Given the description of an element on the screen output the (x, y) to click on. 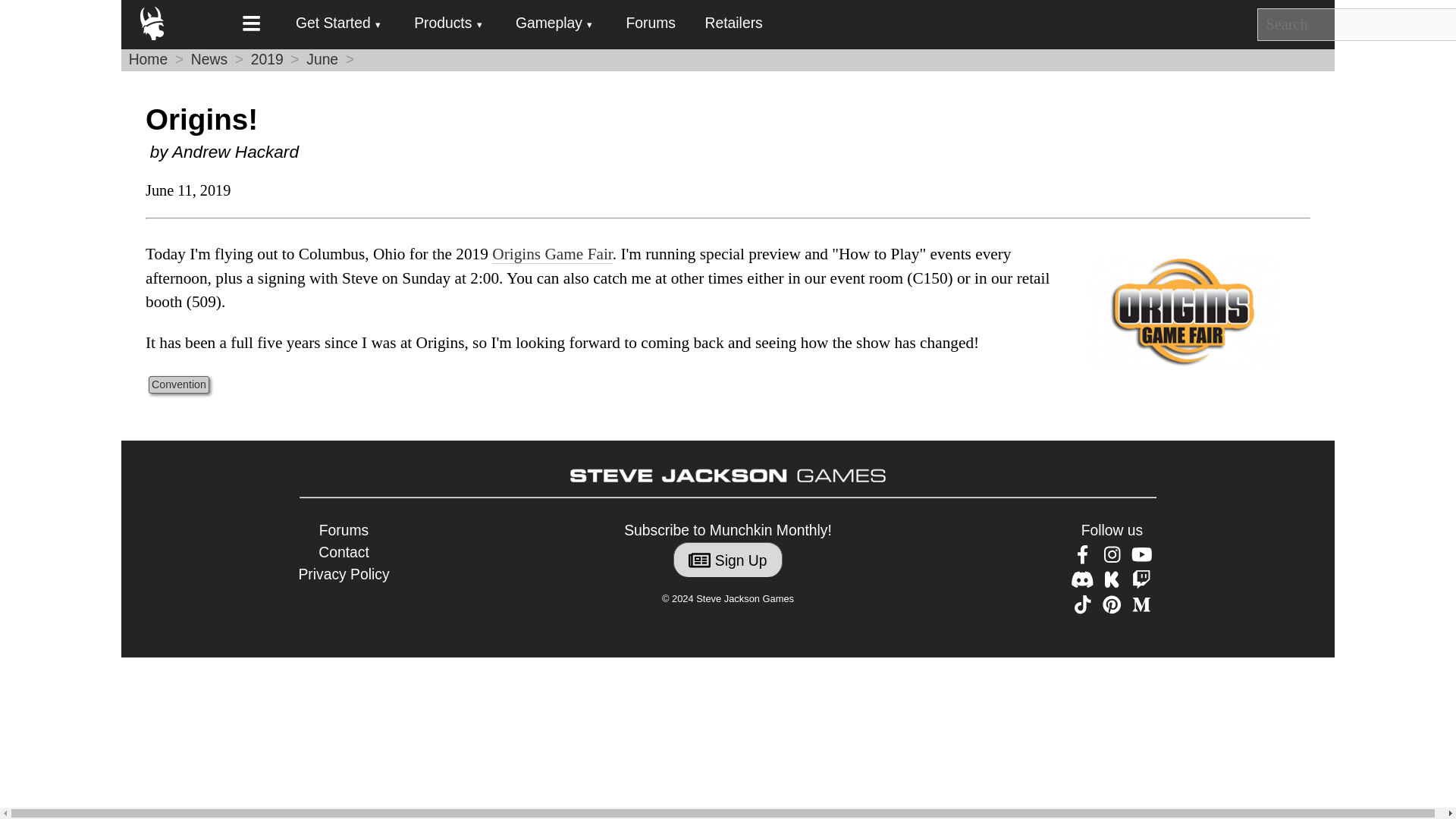
Retailers (733, 22)
News (208, 59)
Origins Game Fair (552, 253)
Products (447, 23)
Get Started (338, 23)
Gameplay (553, 23)
2019 (266, 59)
June (321, 59)
Home (148, 59)
Convention (178, 384)
Forums (650, 22)
